Given the description of an element on the screen output the (x, y) to click on. 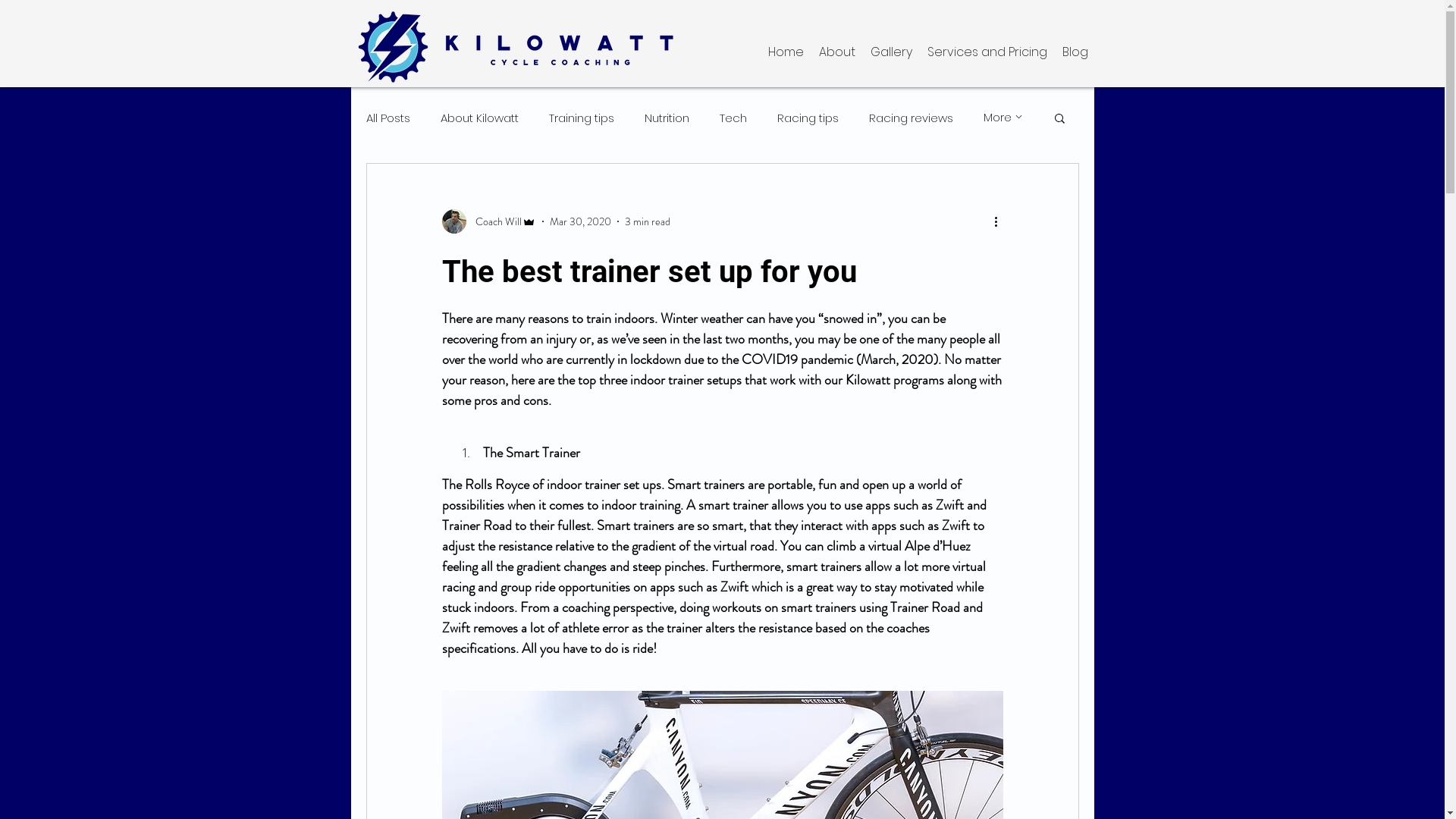
Home Element type: text (784, 51)
Racing reviews Element type: text (911, 117)
Nutrition Element type: text (666, 117)
Blog Element type: text (1074, 51)
About Element type: text (836, 51)
Tech Element type: text (732, 117)
About Kilowatt Element type: text (478, 117)
Services and Pricing Element type: text (986, 51)
Gallery Element type: text (890, 51)
Training tips Element type: text (581, 117)
Racing tips Element type: text (806, 117)
All Posts Element type: text (387, 117)
